Given the description of an element on the screen output the (x, y) to click on. 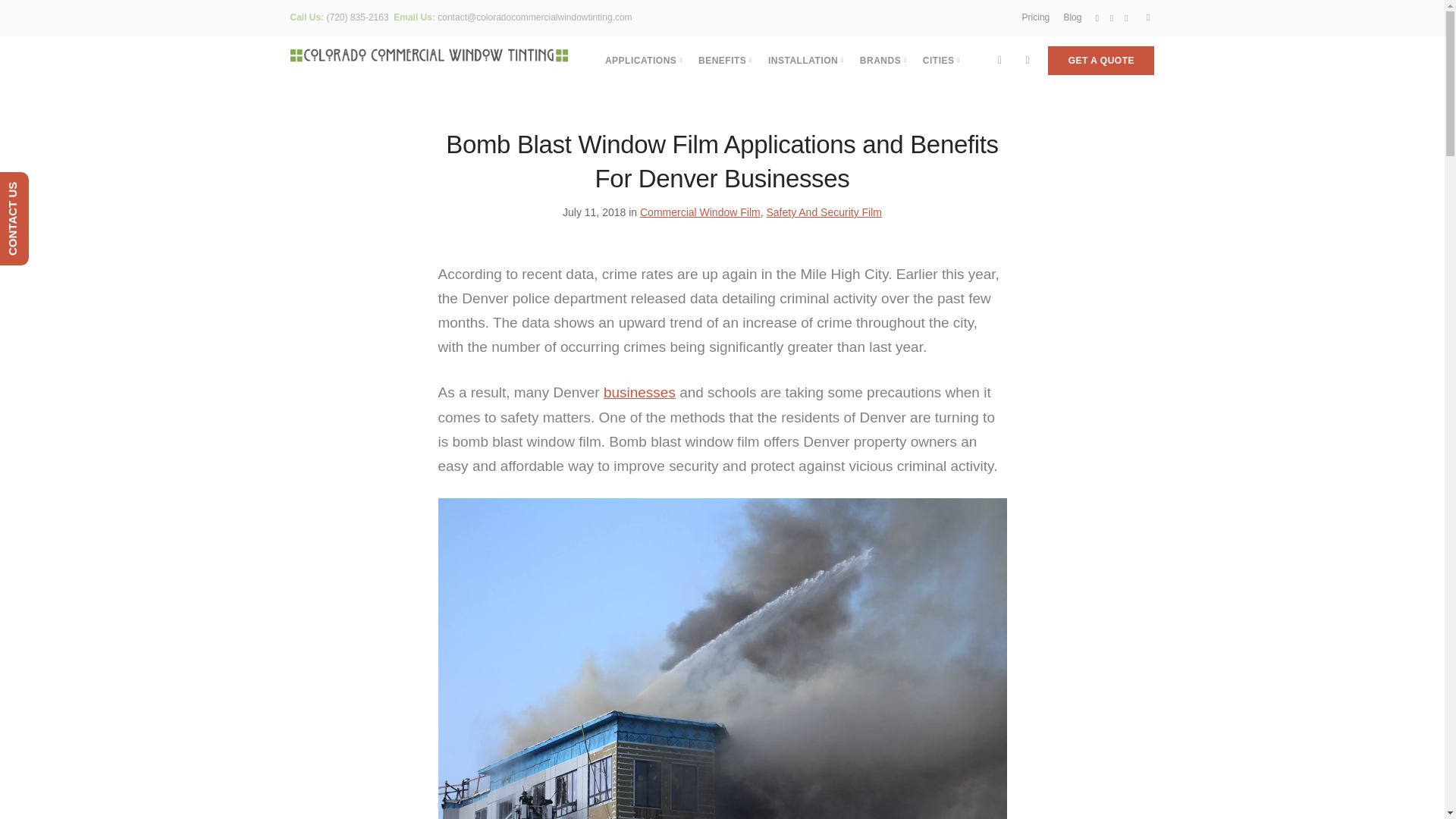
BENEFITS (725, 60)
Pricing (1035, 17)
Blog (1071, 17)
BRANDS (883, 60)
INSTALLATION (806, 60)
APPLICATIONS (643, 60)
